Given the description of an element on the screen output the (x, y) to click on. 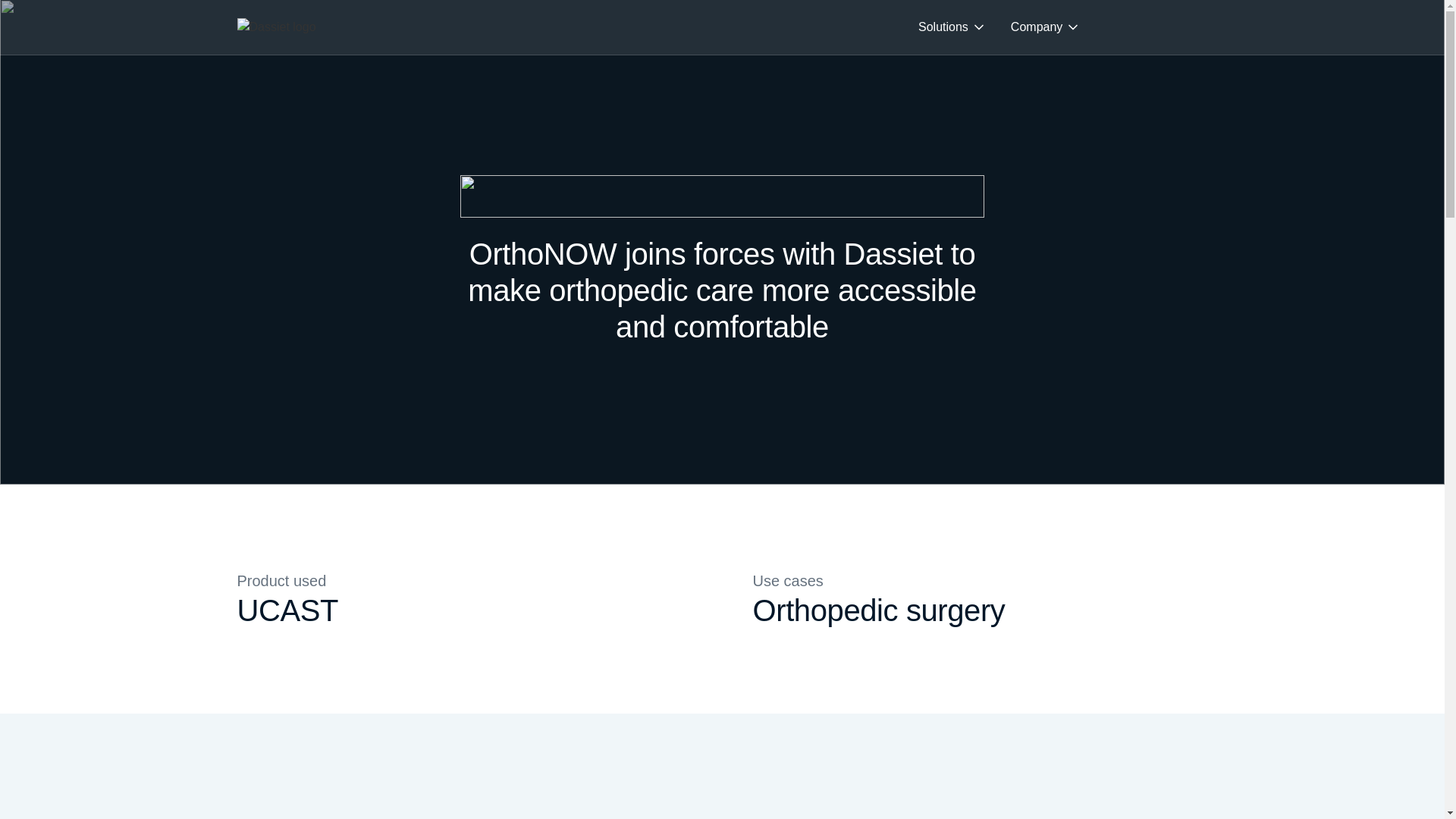
Blog (1117, 27)
Contact (1174, 27)
